Given the description of an element on the screen output the (x, y) to click on. 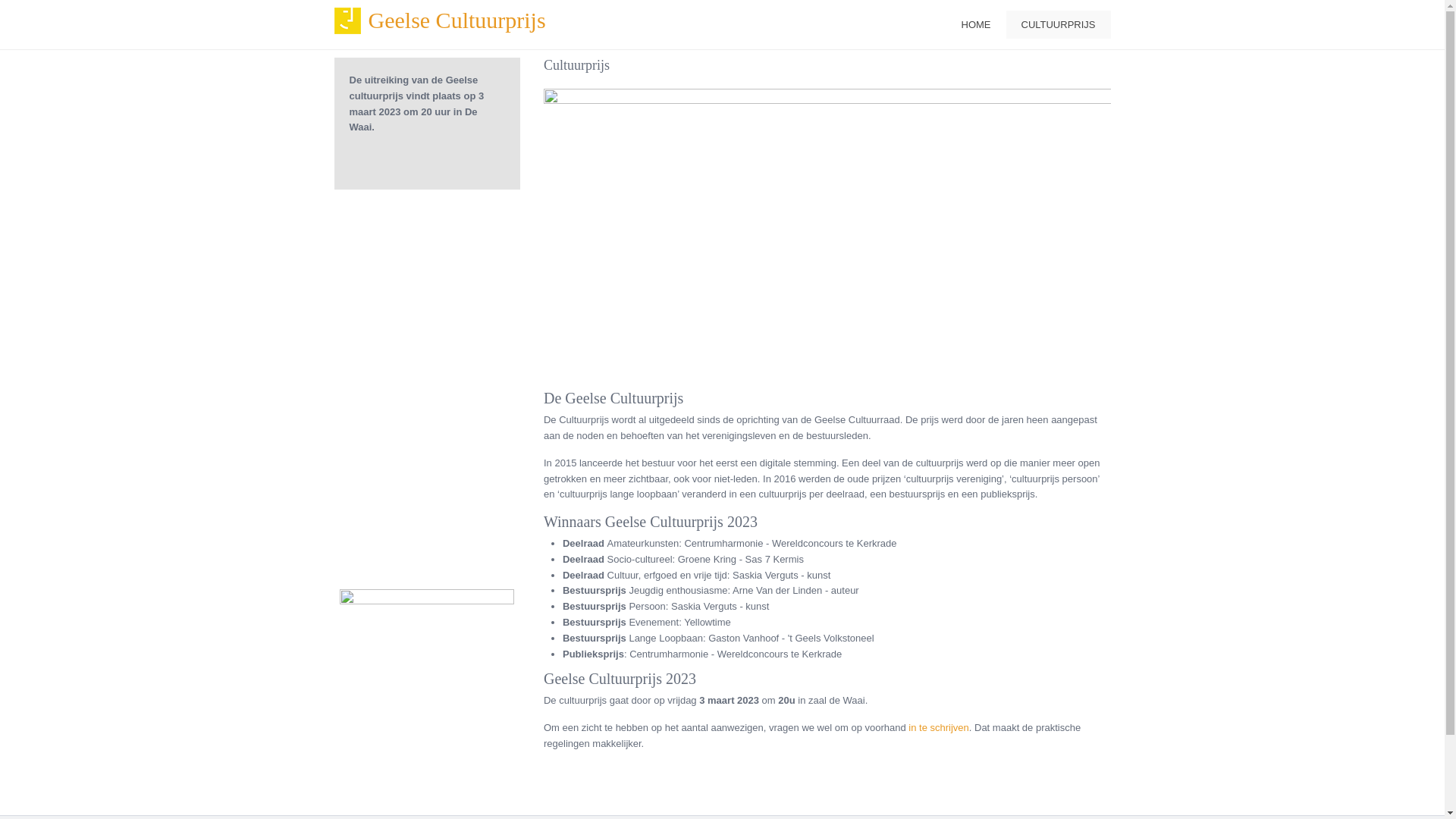
in te schrijven Element type: text (938, 727)
Home Element type: hover (346, 20)
CULTUURPRIJS Element type: text (1057, 24)
HOME Element type: text (976, 24)
Geelse Cultuurprijs Element type: text (457, 20)
